Given the description of an element on the screen output the (x, y) to click on. 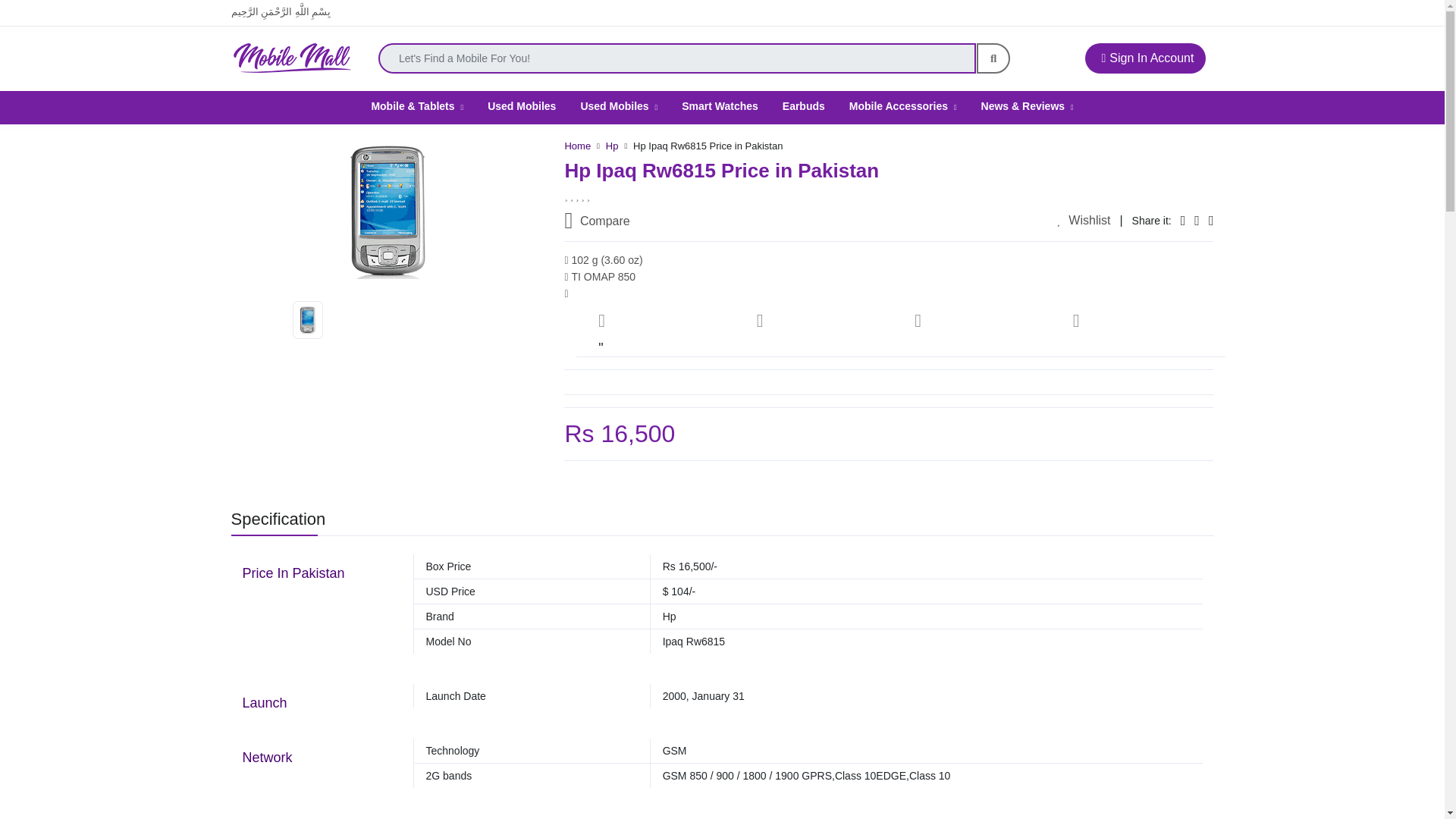
Earbuds (804, 105)
Search (993, 57)
Smart Watches (719, 105)
Used Mobiles (618, 105)
Used Mobiles (521, 105)
